Given the description of an element on the screen output the (x, y) to click on. 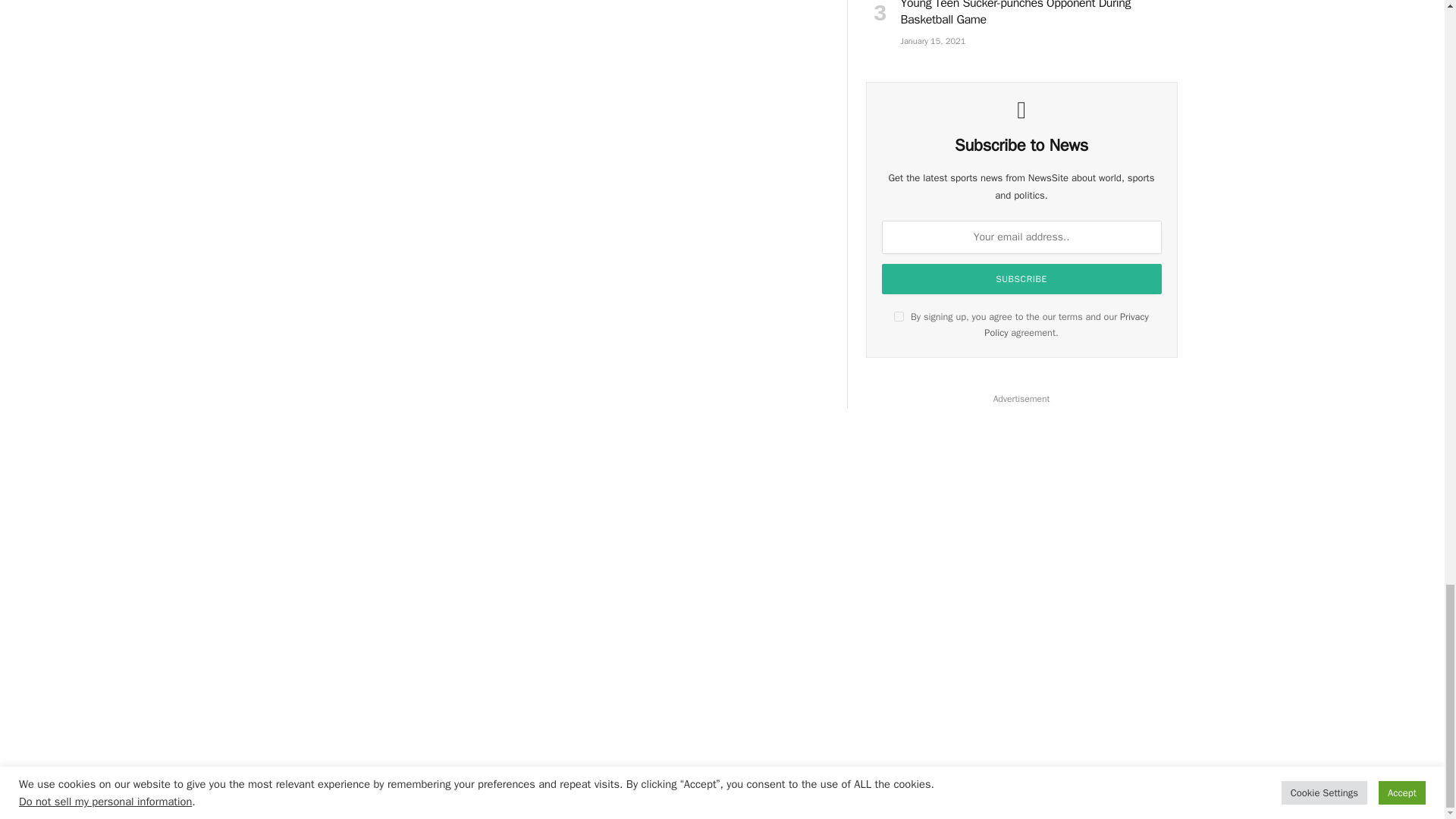
Subscribe (1021, 278)
on (898, 316)
